Given the description of an element on the screen output the (x, y) to click on. 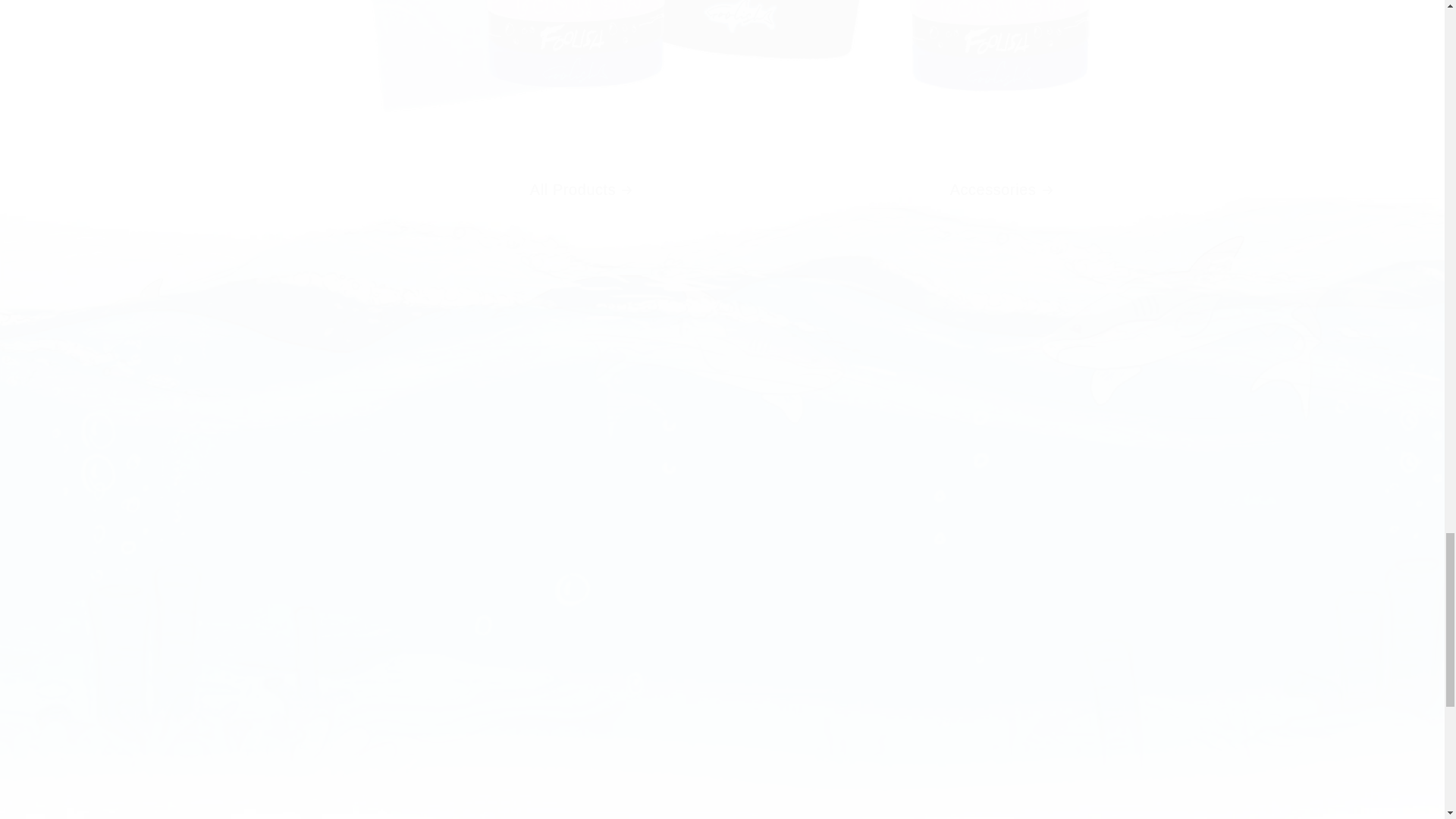
All Products (581, 105)
Accessories (1001, 106)
